Given the description of an element on the screen output the (x, y) to click on. 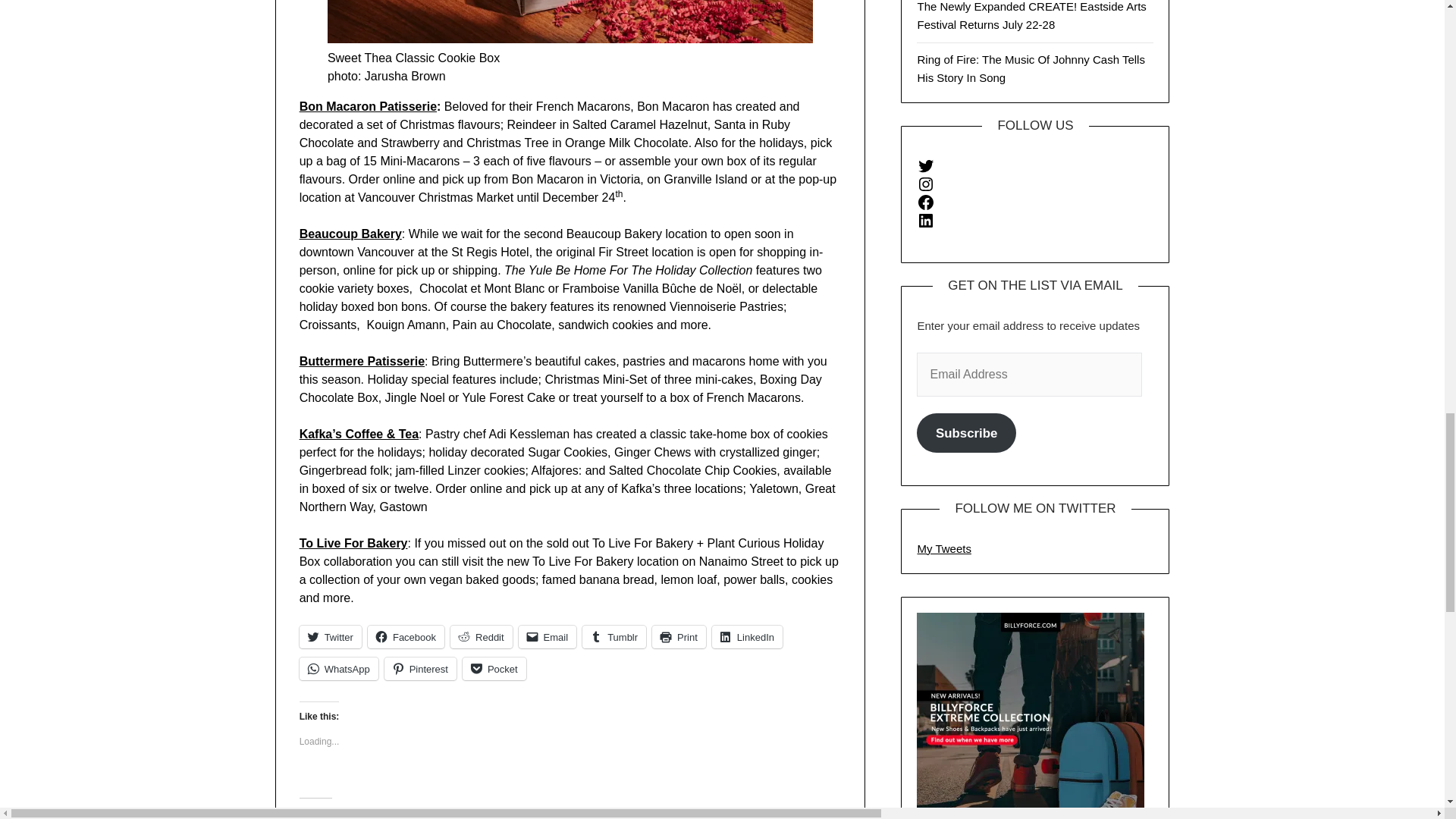
Click to share on Pinterest (420, 668)
Beaucoup Bakery (350, 233)
Click to share on Reddit (480, 636)
To Live For Bakery (353, 543)
Pinterest (420, 668)
Click to email a link to a friend (547, 636)
Bon Macaron Patisserie (367, 106)
Click to share on LinkedIn (747, 636)
Facebook (406, 636)
Click to share on Pocket (494, 668)
Click to print (679, 636)
Tumblr (614, 636)
Click to share on WhatsApp (338, 668)
Email (547, 636)
Click to share on Tumblr (614, 636)
